Given the description of an element on the screen output the (x, y) to click on. 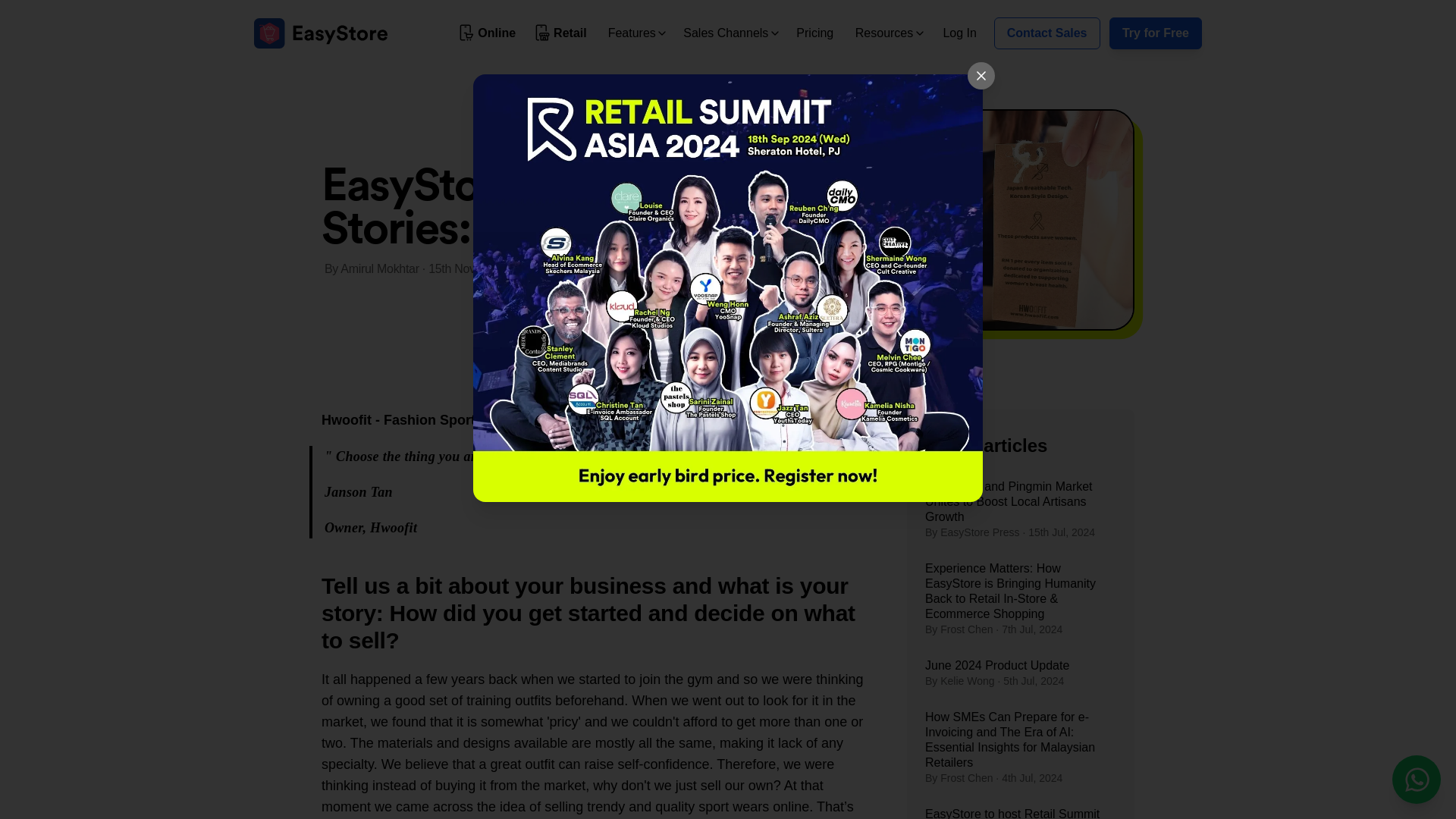
Pricing (814, 32)
Contact Sales (1047, 33)
Try for Free (1155, 33)
Retail (561, 33)
Log In (958, 32)
Online (488, 33)
